Given the description of an element on the screen output the (x, y) to click on. 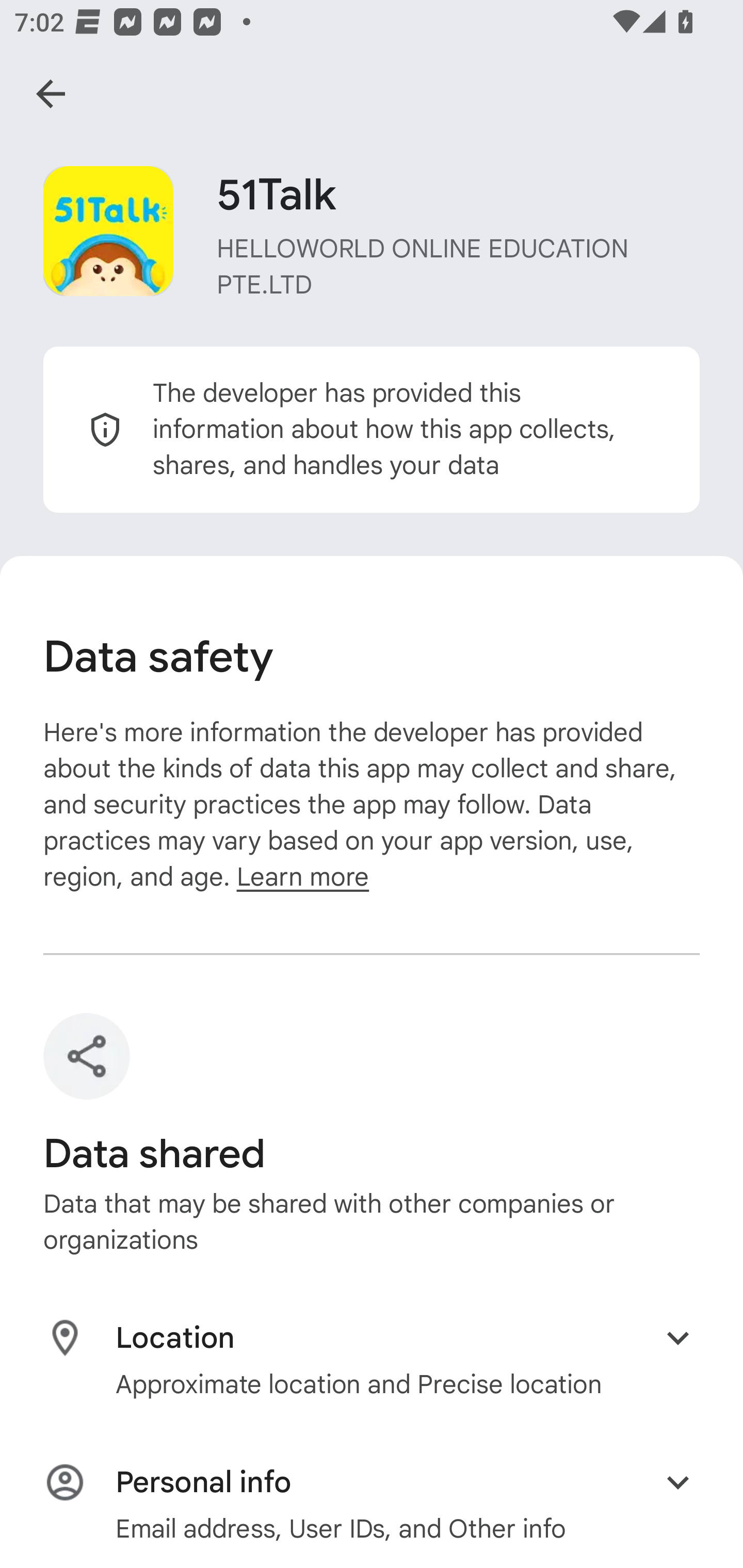
Navigate up (50, 93)
